Given the description of an element on the screen output the (x, y) to click on. 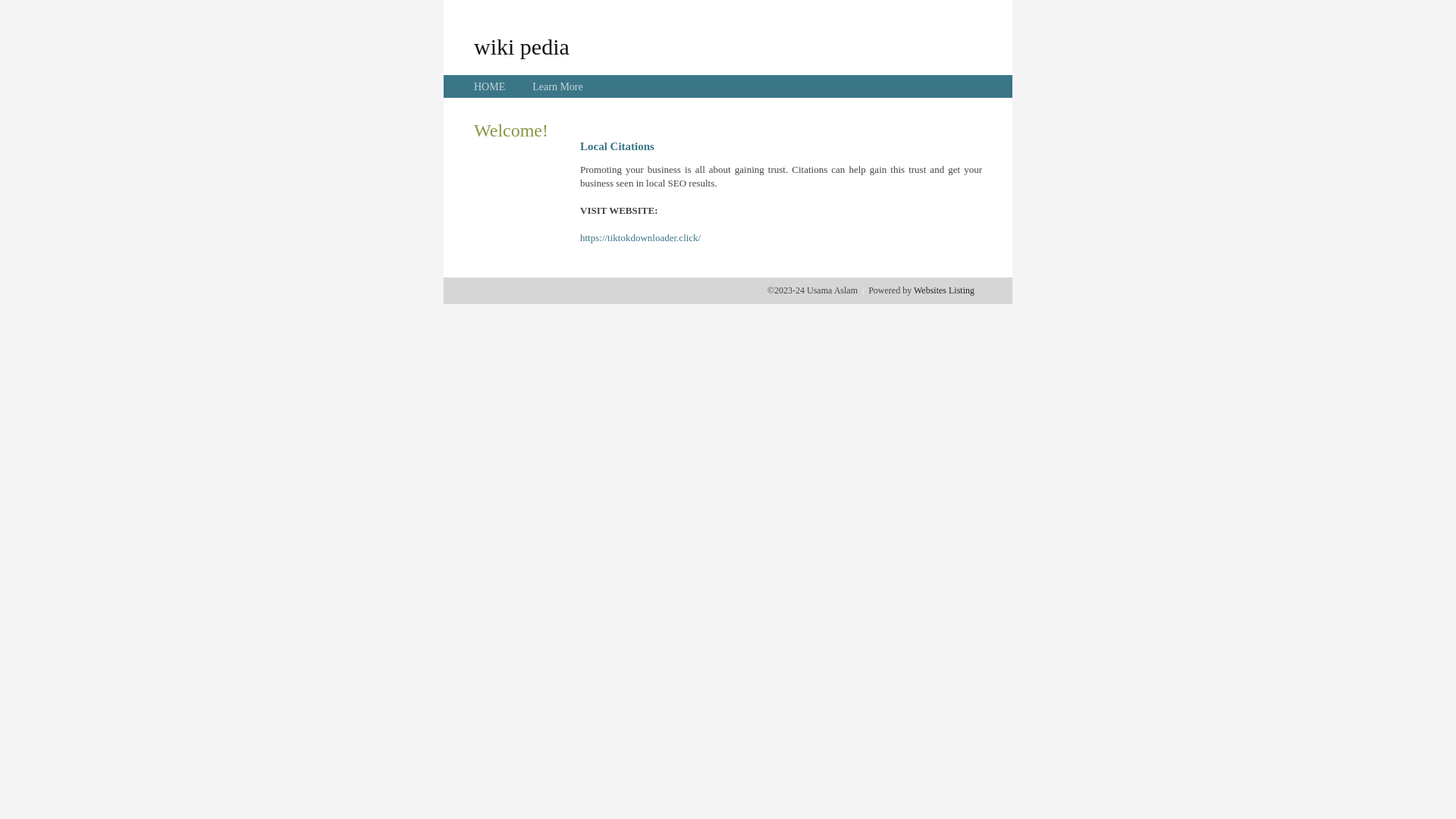
wiki pedia Element type: text (521, 46)
https://tiktokdownloader.click/ Element type: text (640, 237)
HOME Element type: text (489, 86)
Learn More Element type: text (557, 86)
Websites Listing Element type: text (943, 290)
